Given the description of an element on the screen output the (x, y) to click on. 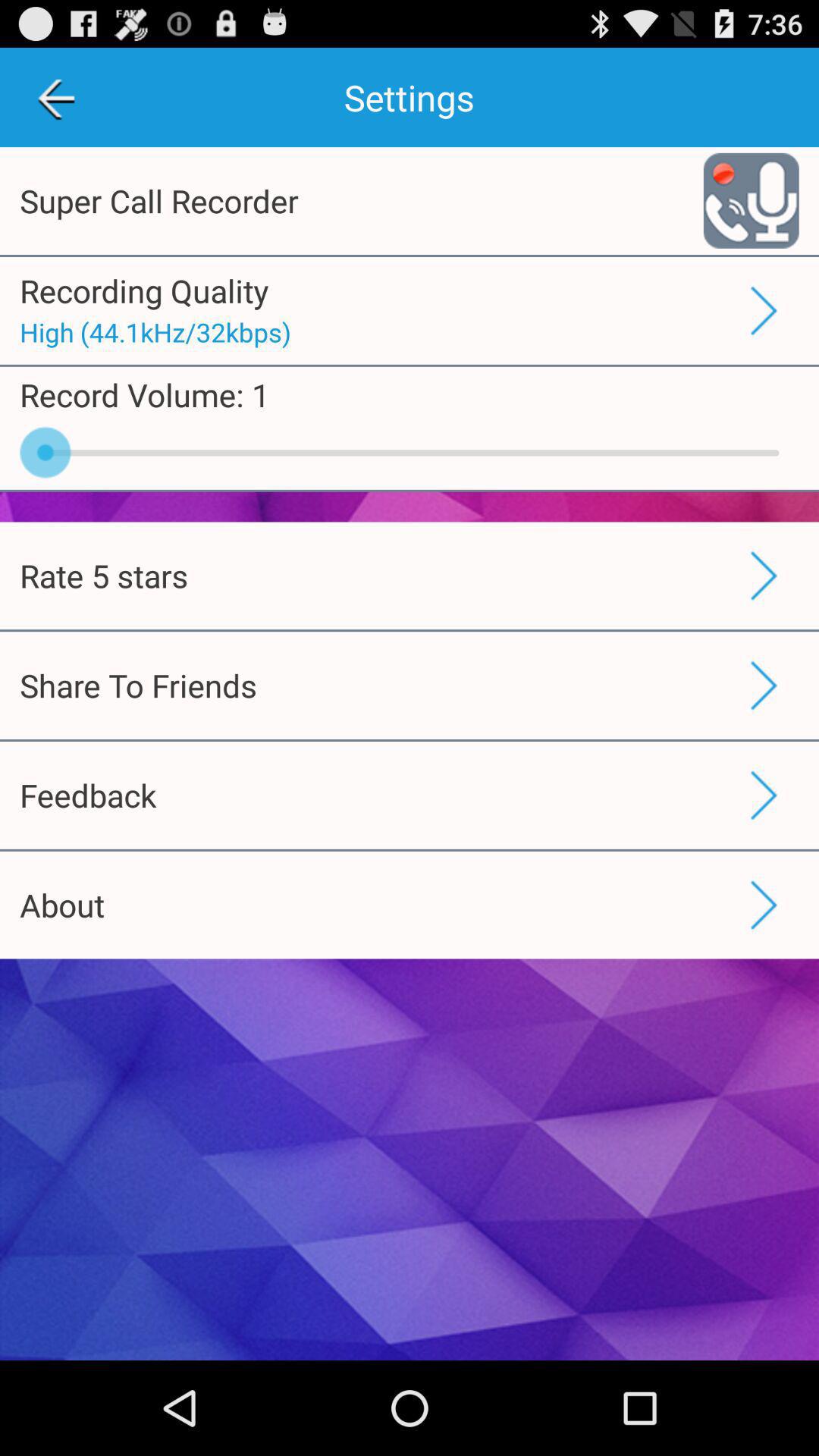
back arrow (55, 97)
